Given the description of an element on the screen output the (x, y) to click on. 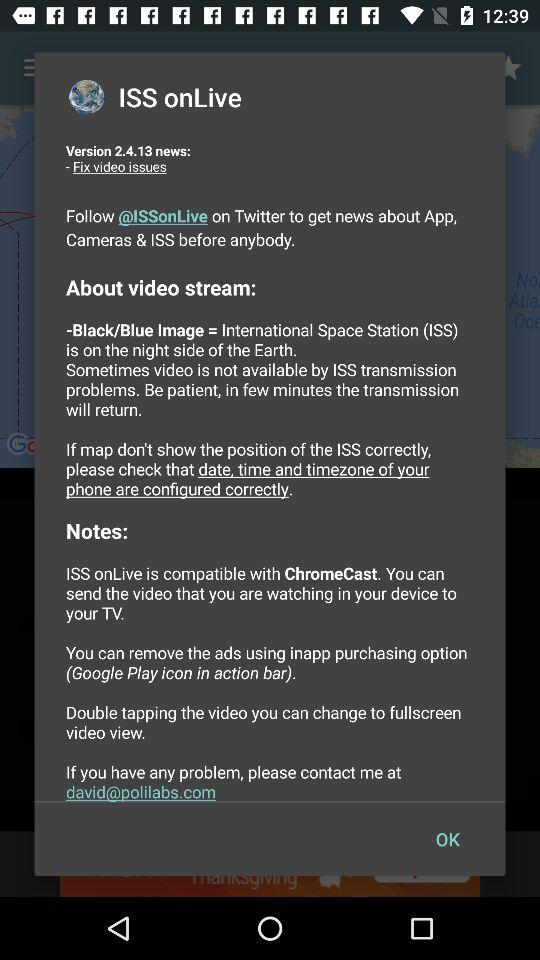
flip until the ok icon (447, 838)
